Given the description of an element on the screen output the (x, y) to click on. 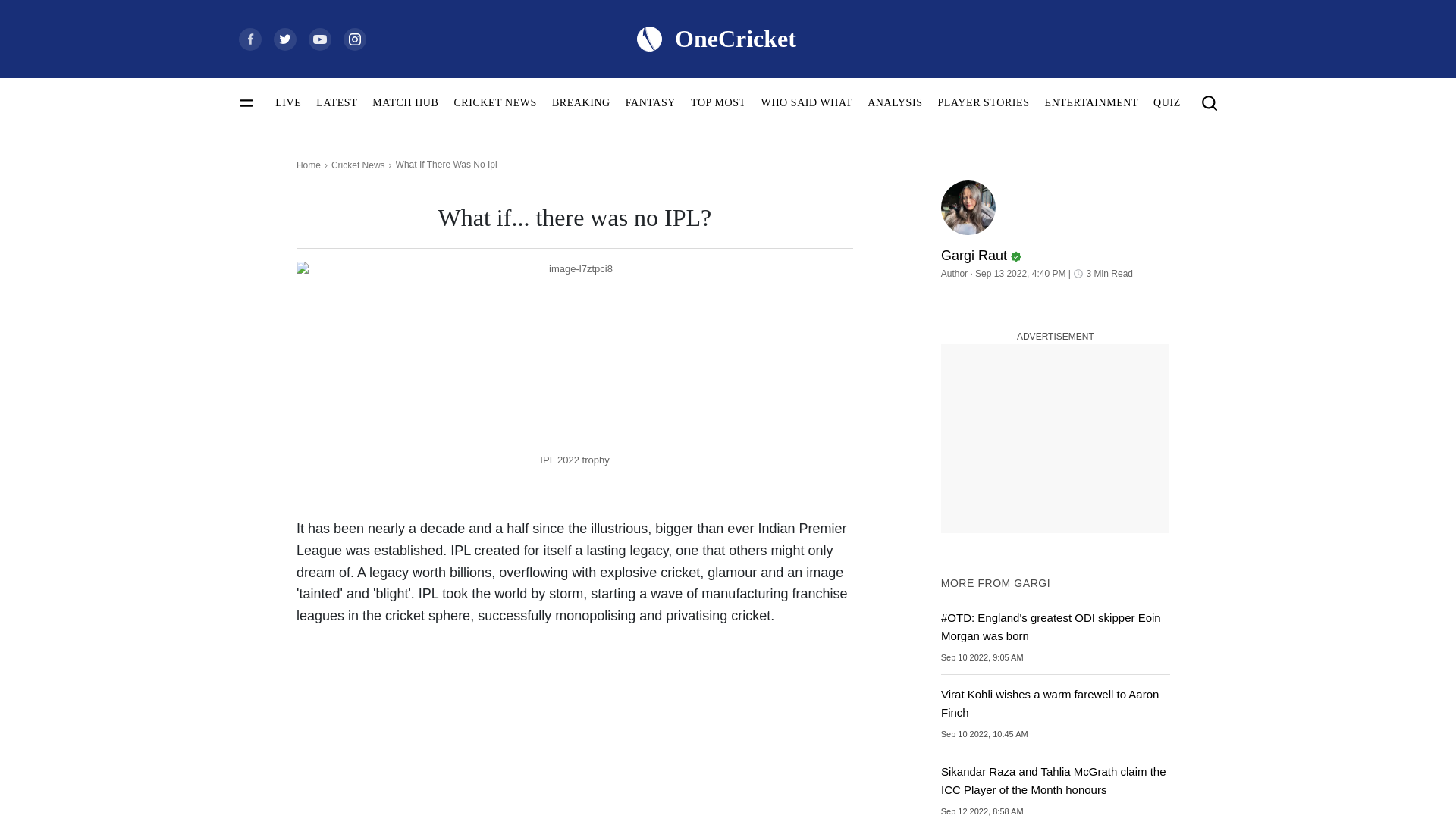
ANALYSIS (894, 102)
LIVE (288, 102)
Home (308, 164)
Gargi Raut (1055, 249)
BREAKING (580, 102)
LATEST (335, 102)
Gargi Raut (967, 207)
Cricket News (358, 164)
OneCricket (715, 38)
TOP MOST (717, 102)
CRICKET NEWS (494, 102)
QUIZ (1166, 102)
PLAYER STORIES (983, 102)
